Given the description of an element on the screen output the (x, y) to click on. 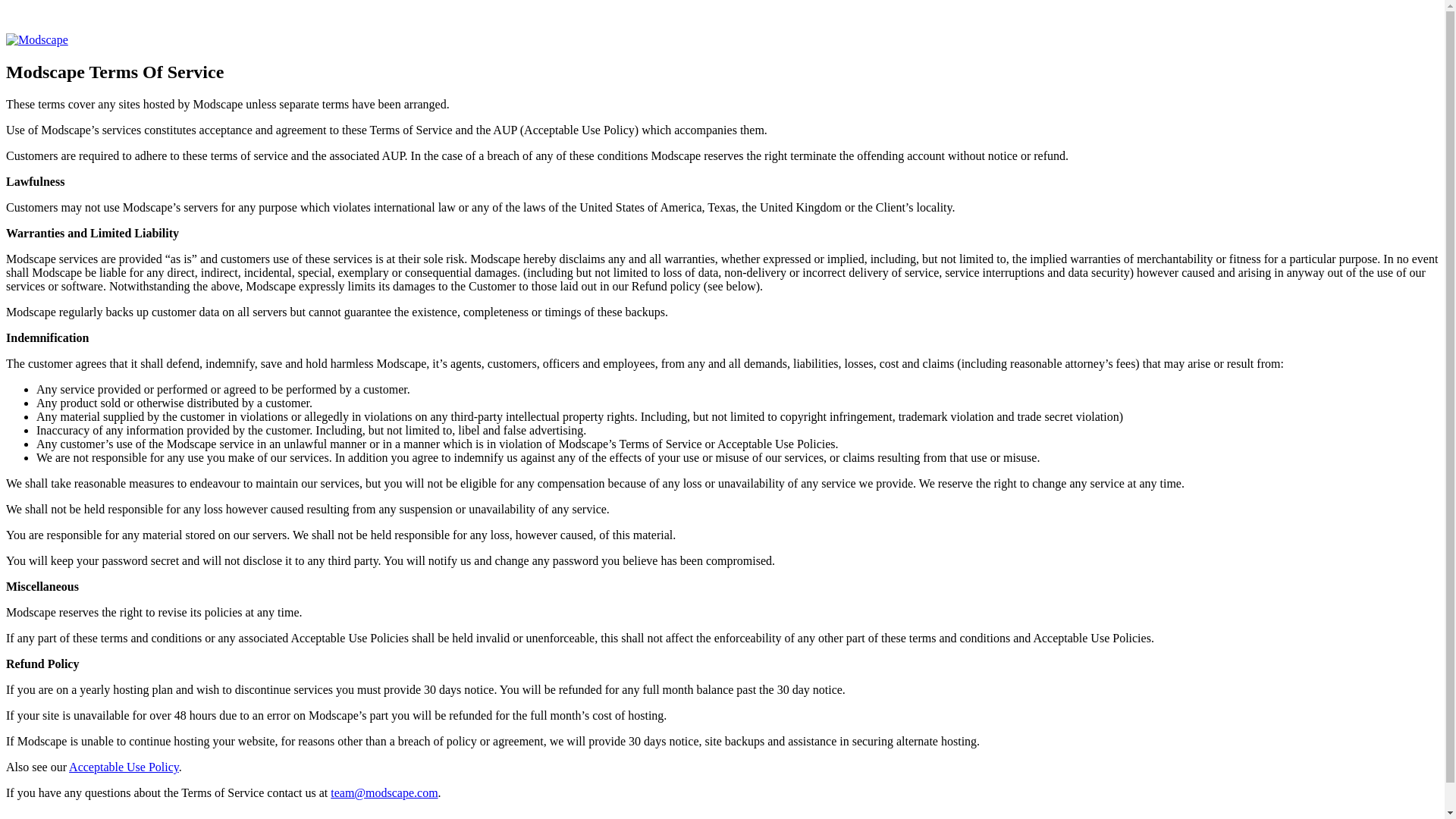
Acceptable Use Policy (123, 766)
